Given the description of an element on the screen output the (x, y) to click on. 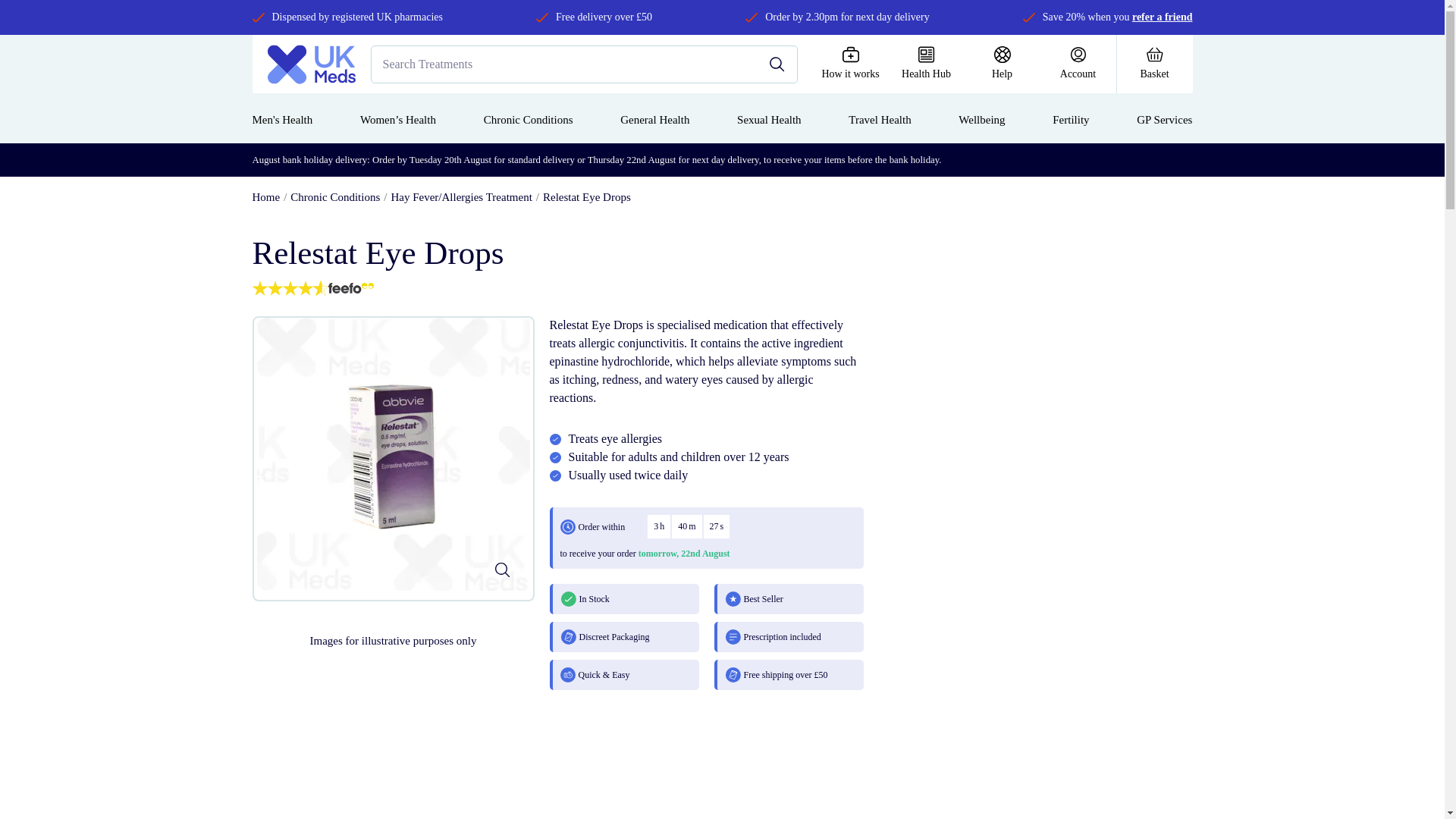
Submit your search query. (777, 64)
Account (1078, 64)
Chronic Conditions (334, 196)
Health Hub (925, 64)
Sexual Health (769, 120)
Home (265, 196)
How it works (850, 64)
How it works (850, 64)
Help (1002, 64)
Account (1078, 64)
